Given the description of an element on the screen output the (x, y) to click on. 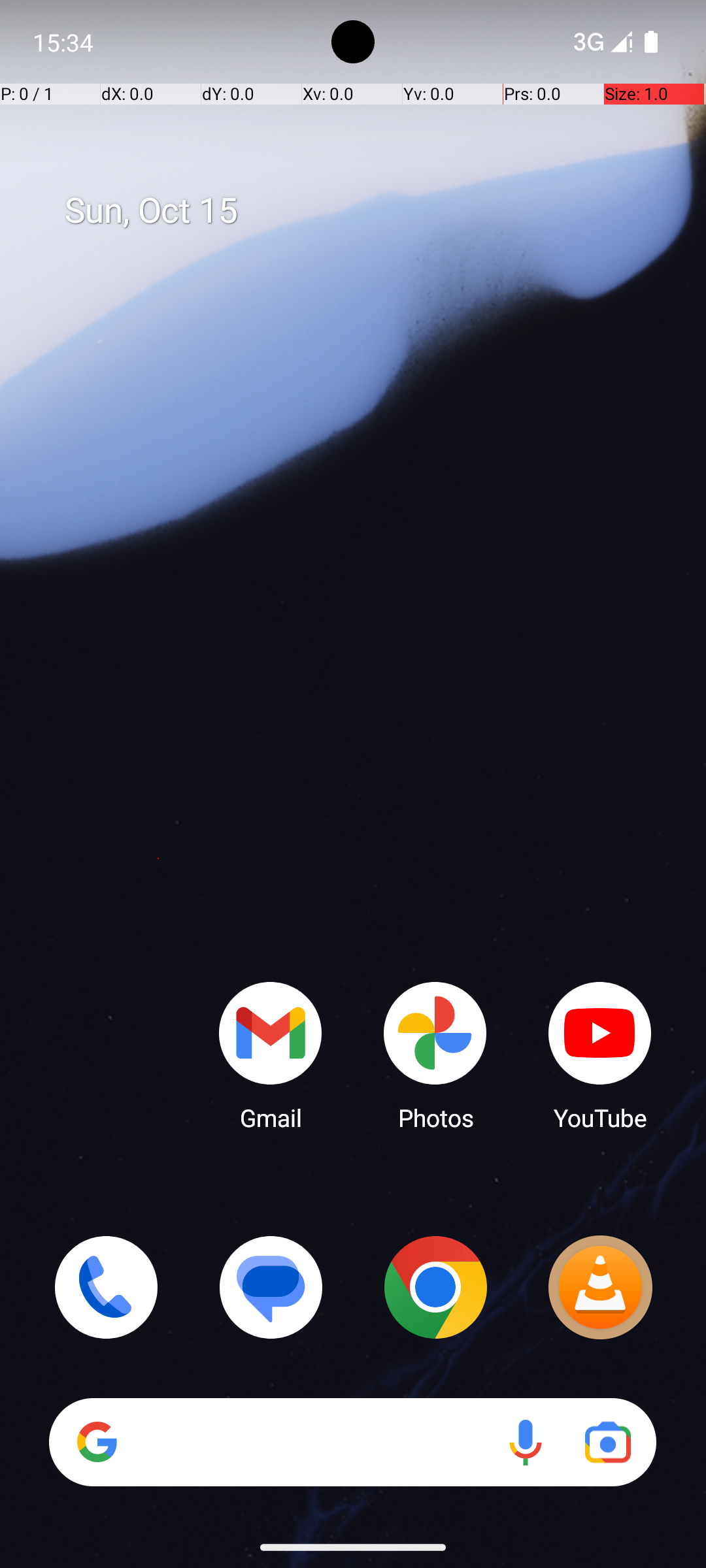
Search apps, web and more Element type: android.widget.EditText (403, 148)
Clock Element type: android.widget.TextView (589, 306)
0 Element type: android.widget.TextView (158, 474)
1 Element type: android.widget.TextView (158, 570)
2 Element type: android.widget.TextView (158, 666)
3 Element type: android.widget.TextView (158, 762)
4 Element type: android.widget.TextView (158, 858)
5 Element type: android.widget.TextView (158, 954)
6 Element type: android.widget.TextView (158, 1050)
7 Element type: android.widget.TextView (158, 1146)
8 Element type: android.widget.TextView (158, 1242)
9 Element type: android.widget.TextView (158, 1338)
